Given the description of an element on the screen output the (x, y) to click on. 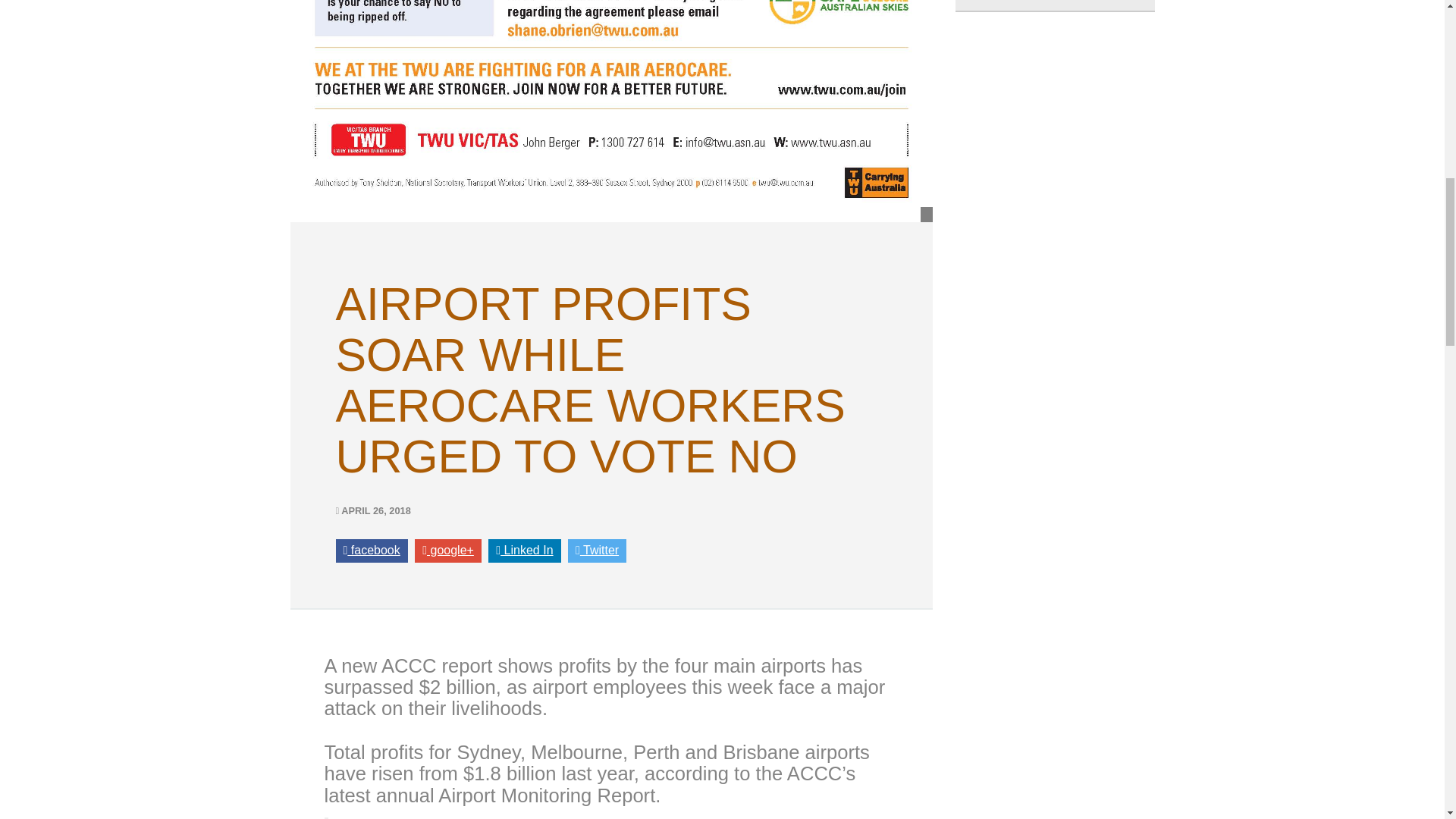
Twitter (596, 550)
Linked In (523, 550)
facebook (370, 550)
